Given the description of an element on the screen output the (x, y) to click on. 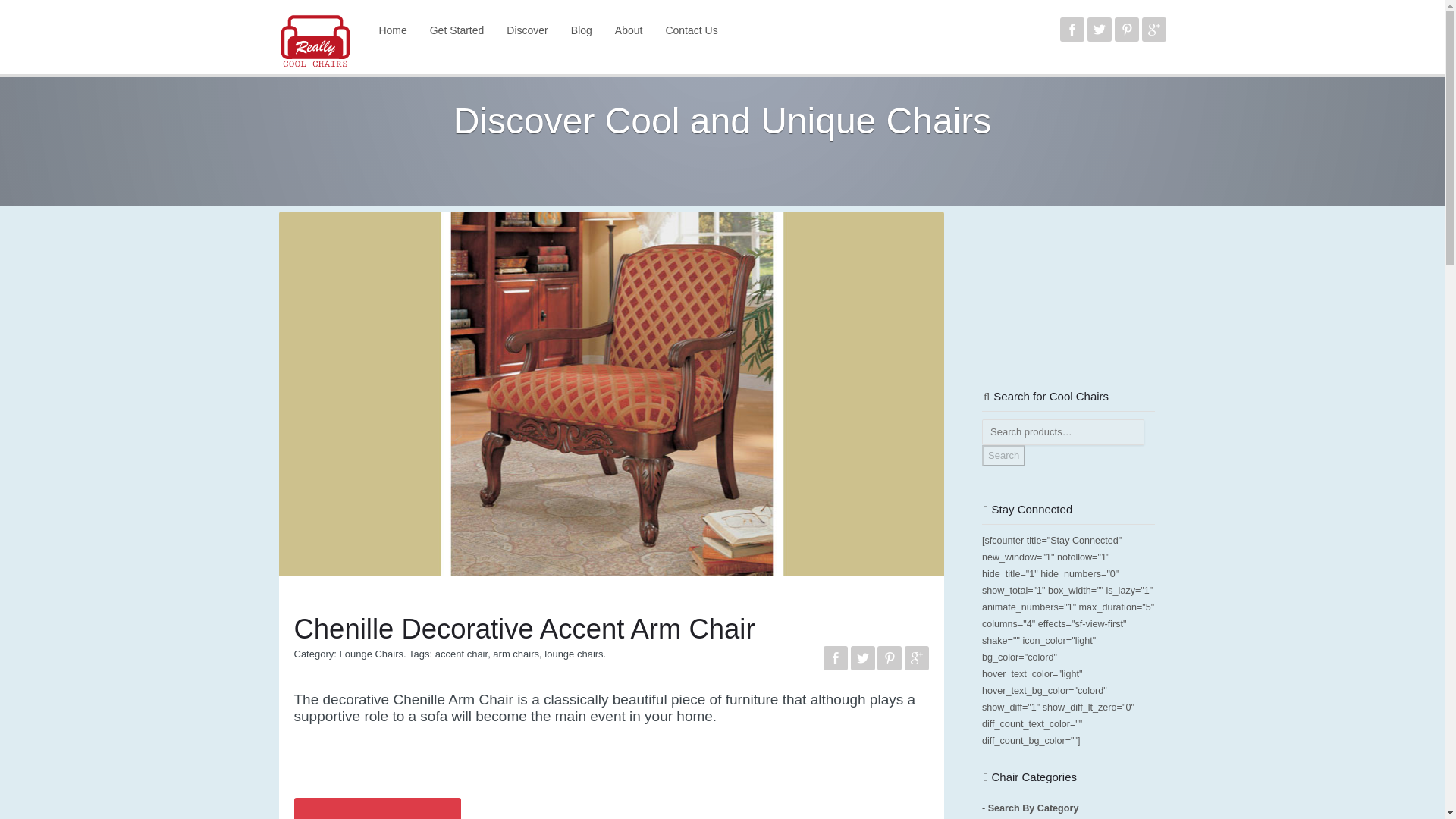
CHECK IT OUT (377, 808)
Blog (581, 29)
Get Started (457, 29)
Learn more about Really Cool Chairs (628, 29)
Discover cool and unique chairs today (527, 29)
Get Started on your search for Cool Chairs (457, 29)
About (628, 29)
Go to Really Cool Chairs homepage (391, 29)
accent chair (461, 654)
Read our latest posts (581, 29)
